Given the description of an element on the screen output the (x, y) to click on. 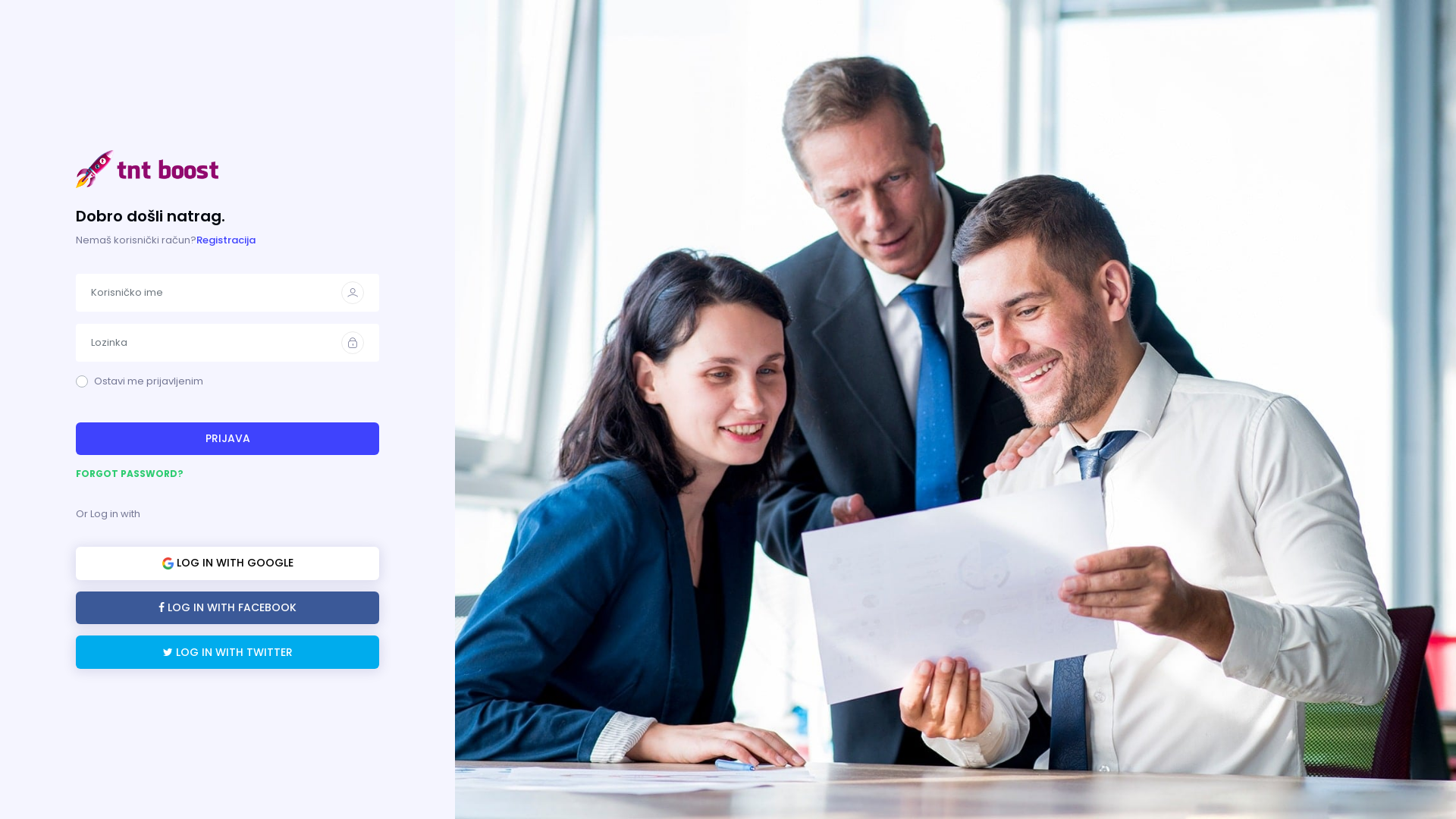
FORGOT PASSWORD? Element type: text (227, 473)
Registracija Element type: text (225, 239)
PRIJAVA Element type: text (227, 438)
LOG IN WITH FACEBOOK Element type: text (227, 607)
LOG IN WITH GOOGLE Element type: text (227, 563)
LOG IN WITH TWITTER Element type: text (227, 651)
